Given the description of an element on the screen output the (x, y) to click on. 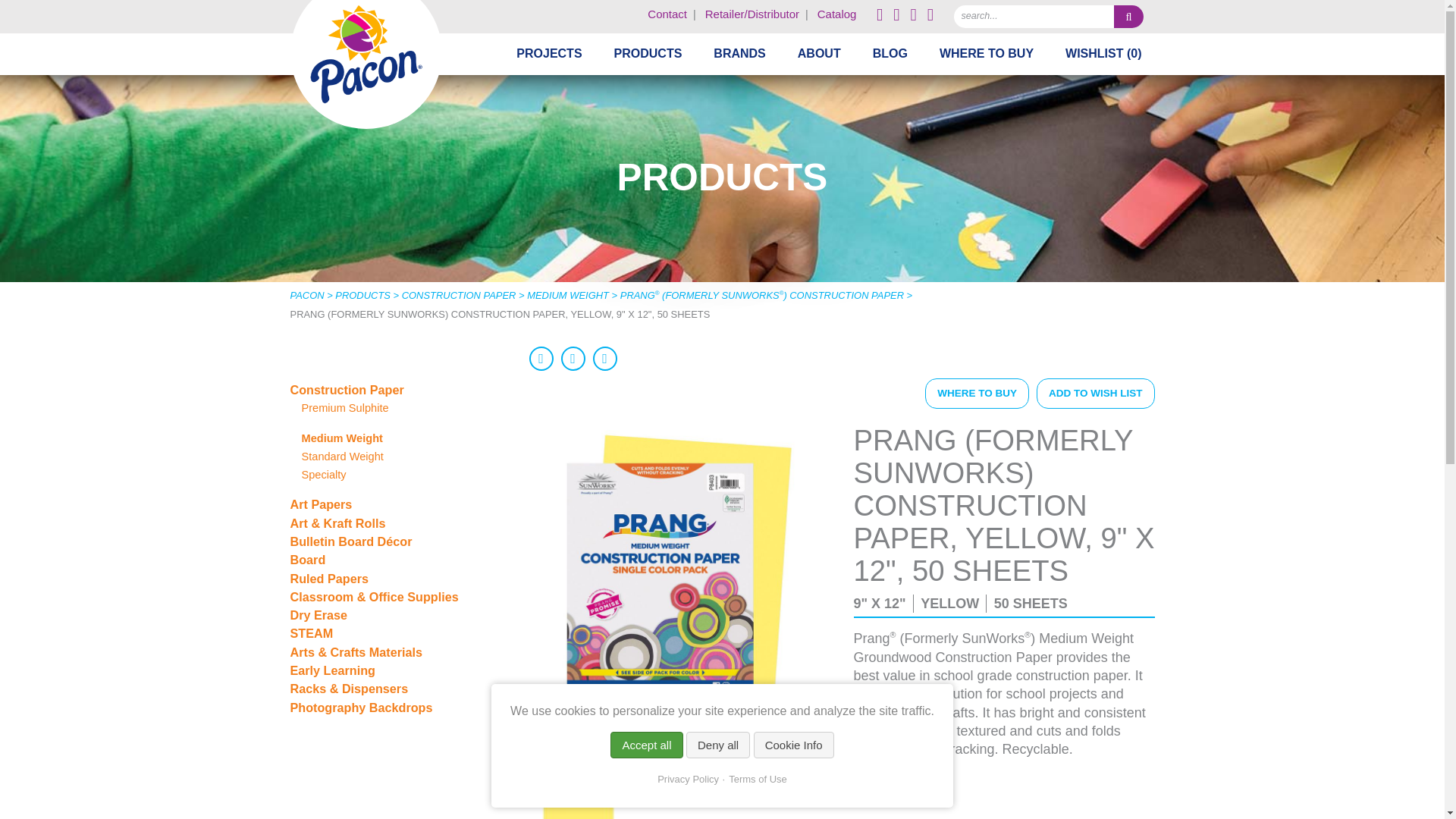
WHERE TO BUY (986, 53)
Contact (667, 13)
Add to Wish List (1095, 393)
Catalog (836, 13)
PROJECTS (549, 53)
BLOG (889, 53)
ABOUT (819, 53)
BRANDS (739, 53)
search... (1031, 13)
PRODUCTS (648, 53)
